Given the description of an element on the screen output the (x, y) to click on. 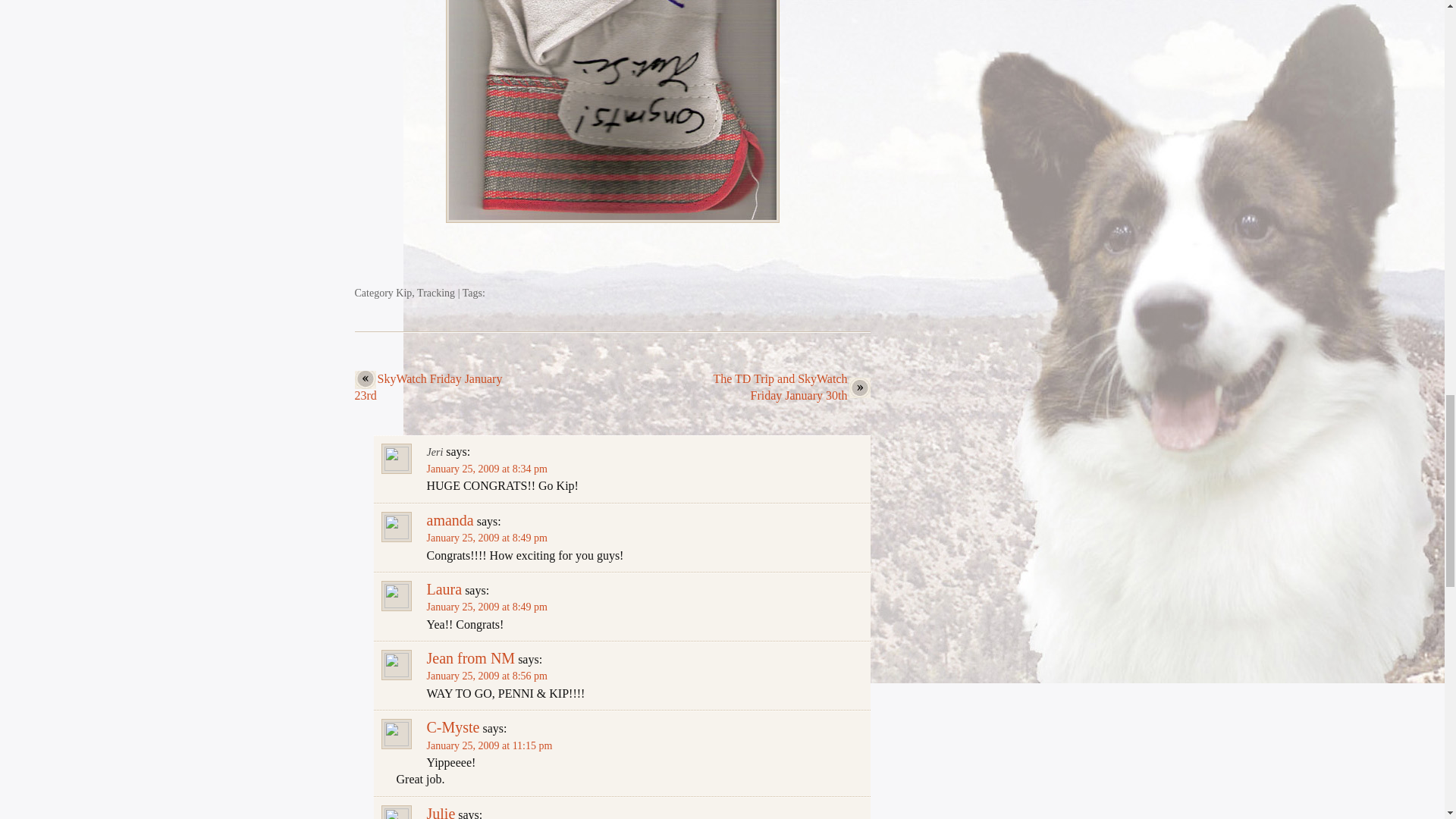
January 25, 2009 at 8:49 pm (486, 606)
January 25, 2009 at 8:34 pm (486, 469)
Julie (440, 812)
The TD Trip and SkyWatch Friday January 30th (782, 387)
C-Myste (452, 727)
SkyWatch Friday January 23rd (428, 386)
Jean from NM (470, 658)
January 25, 2009 at 8:56 pm (486, 675)
amanda (449, 519)
Laura (443, 588)
